Given the description of an element on the screen output the (x, y) to click on. 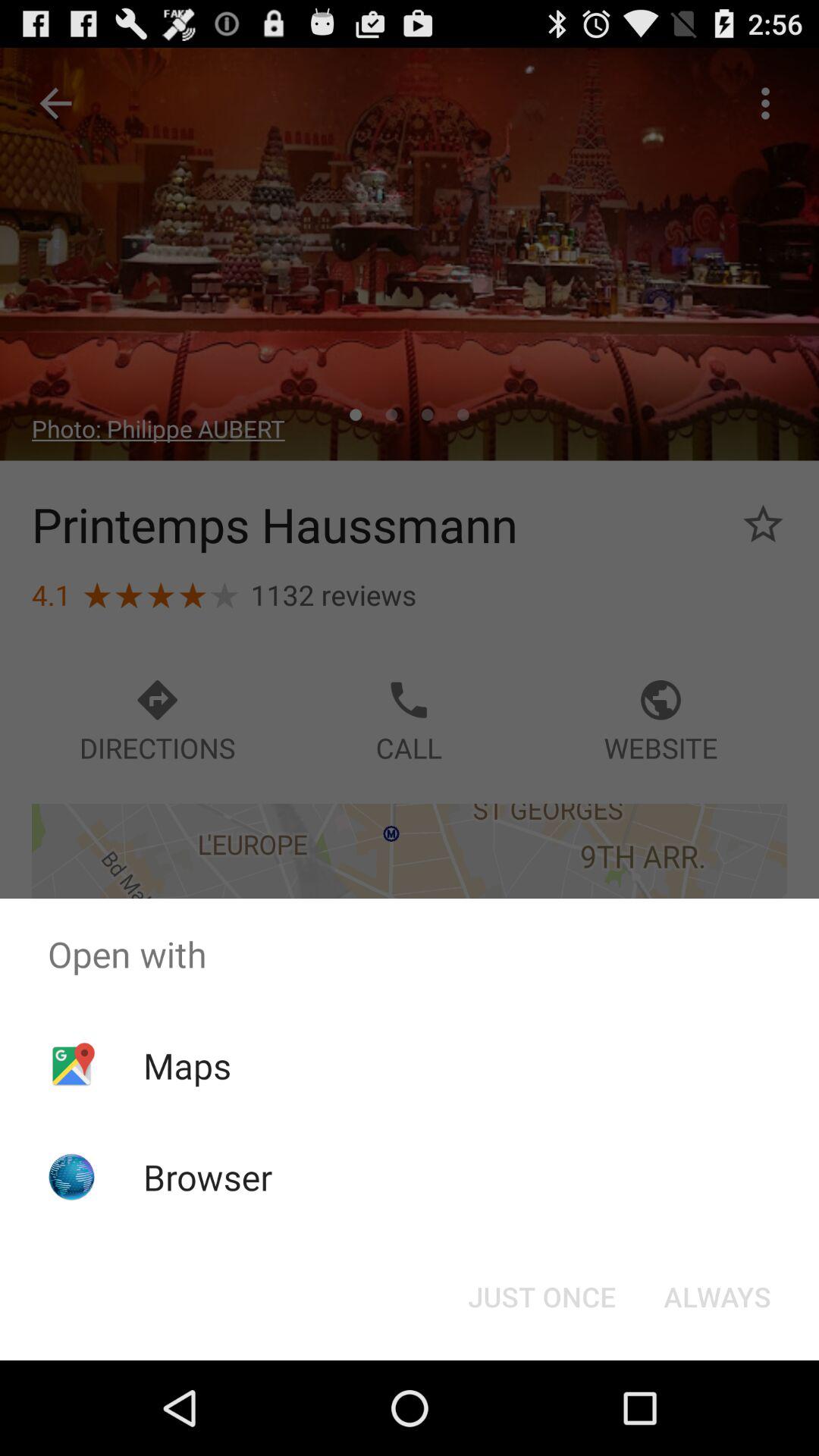
choose the button next to the just once item (717, 1296)
